Given the description of an element on the screen output the (x, y) to click on. 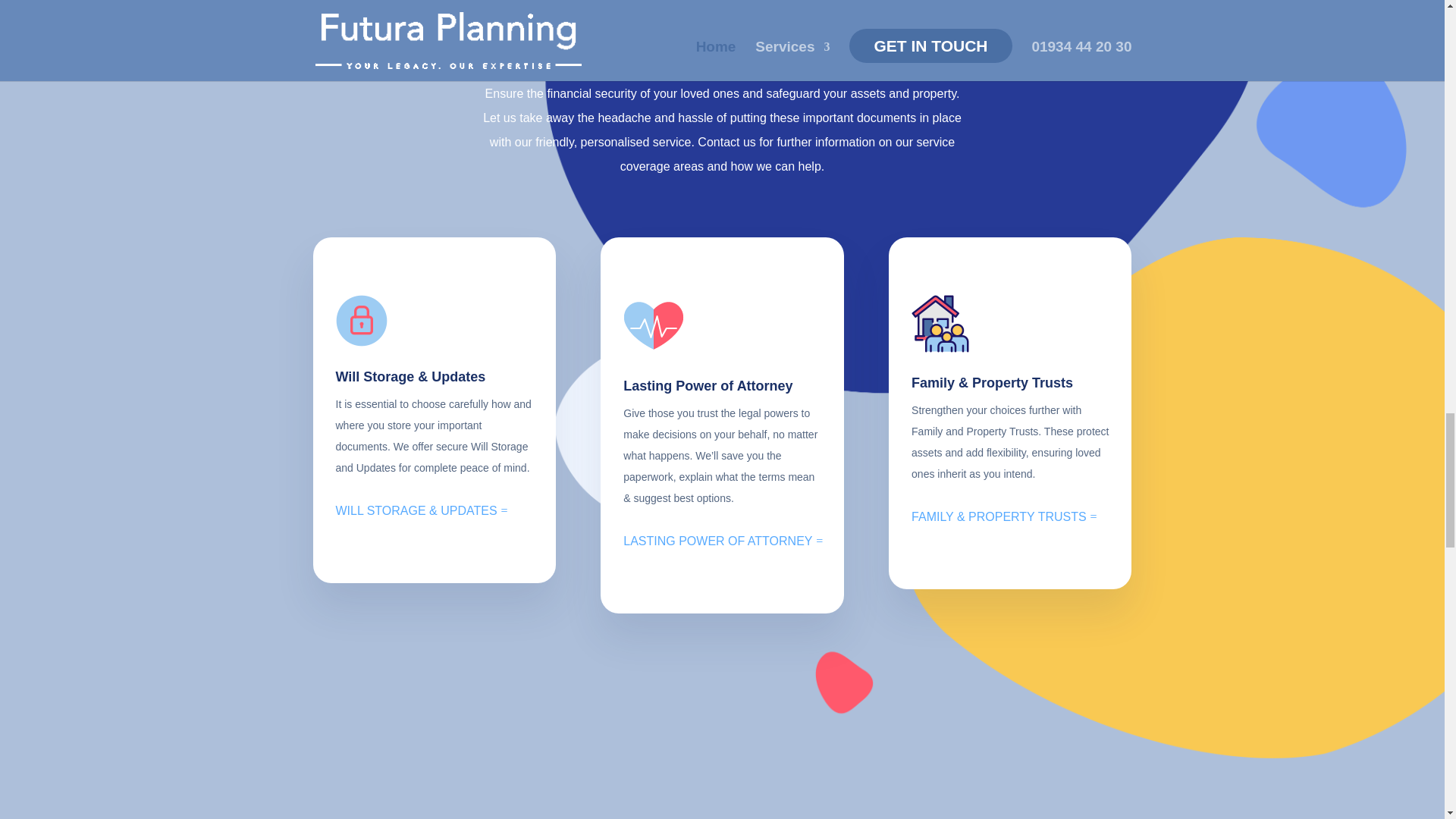
Contact us (726, 141)
LASTING POWER OF ATTORNEY (717, 541)
Lasting Power of Attorney (707, 385)
